Given the description of an element on the screen output the (x, y) to click on. 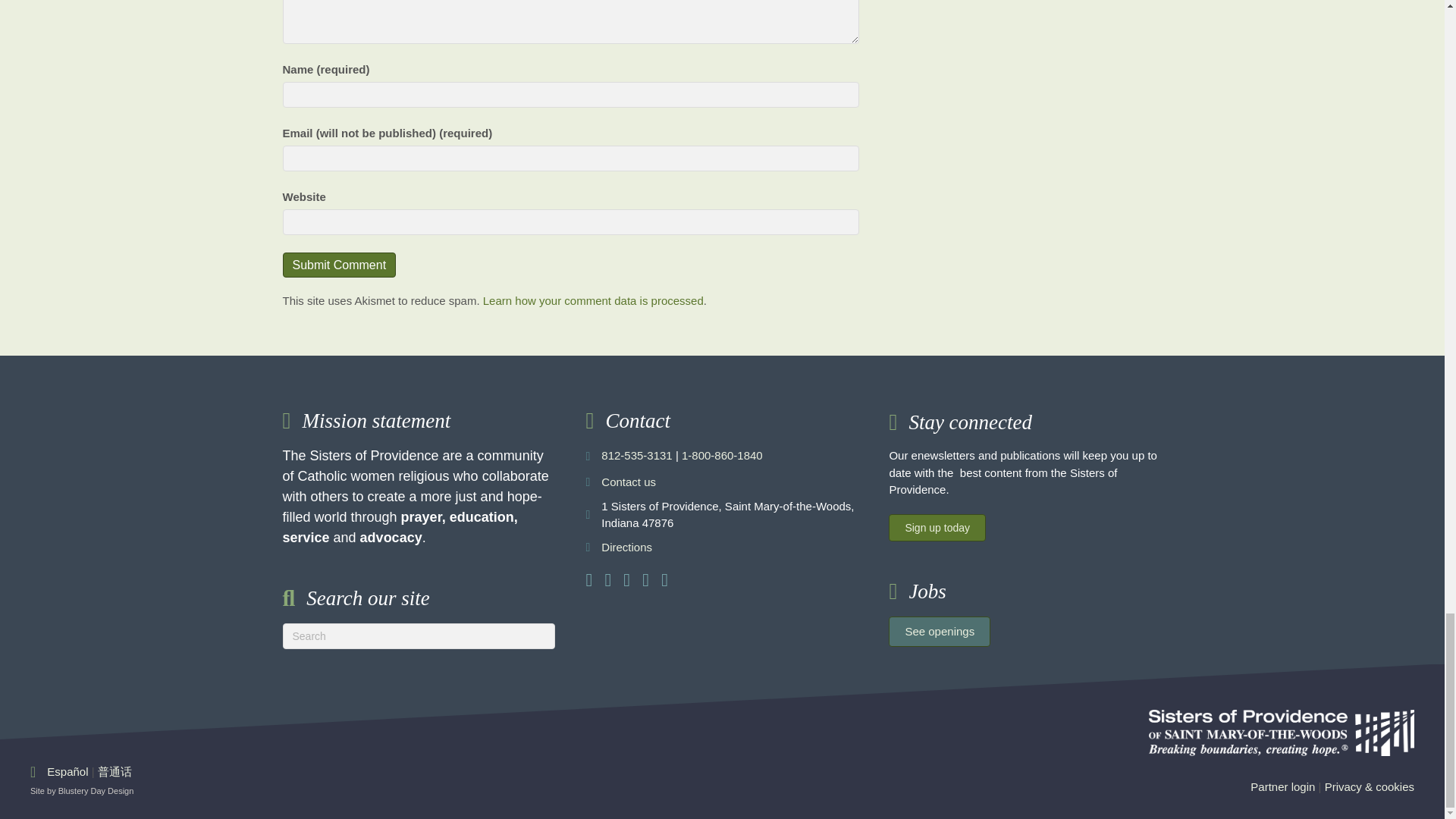
Submit Comment (339, 264)
